Given the description of an element on the screen output the (x, y) to click on. 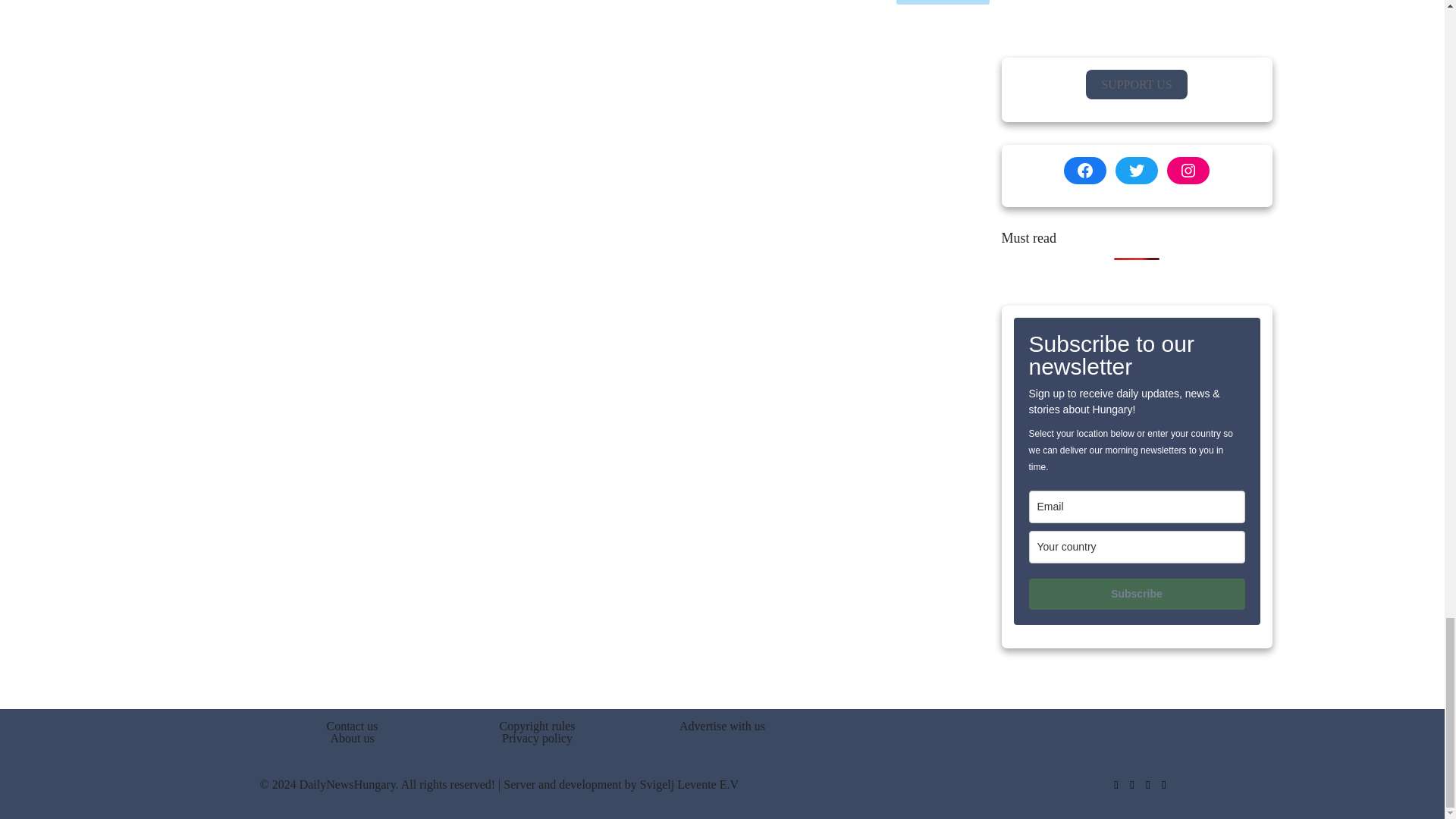
RSS (1164, 784)
Instagram (1147, 784)
Facebook (1115, 784)
Post Comment (943, 2)
